Given the description of an element on the screen output the (x, y) to click on. 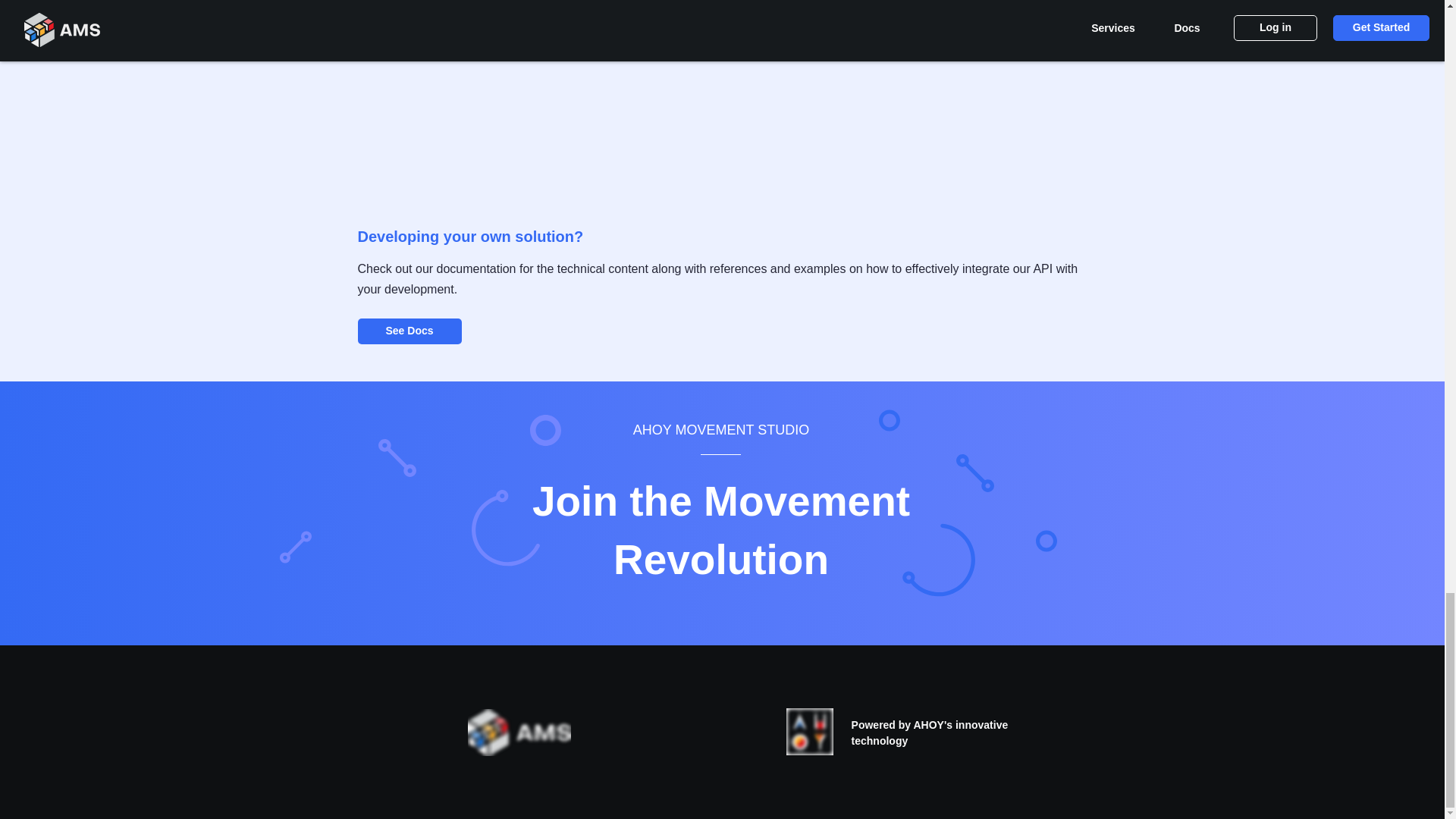
See Docs (409, 330)
Powered by AHOY's innovative technology (930, 731)
